Given the description of an element on the screen output the (x, y) to click on. 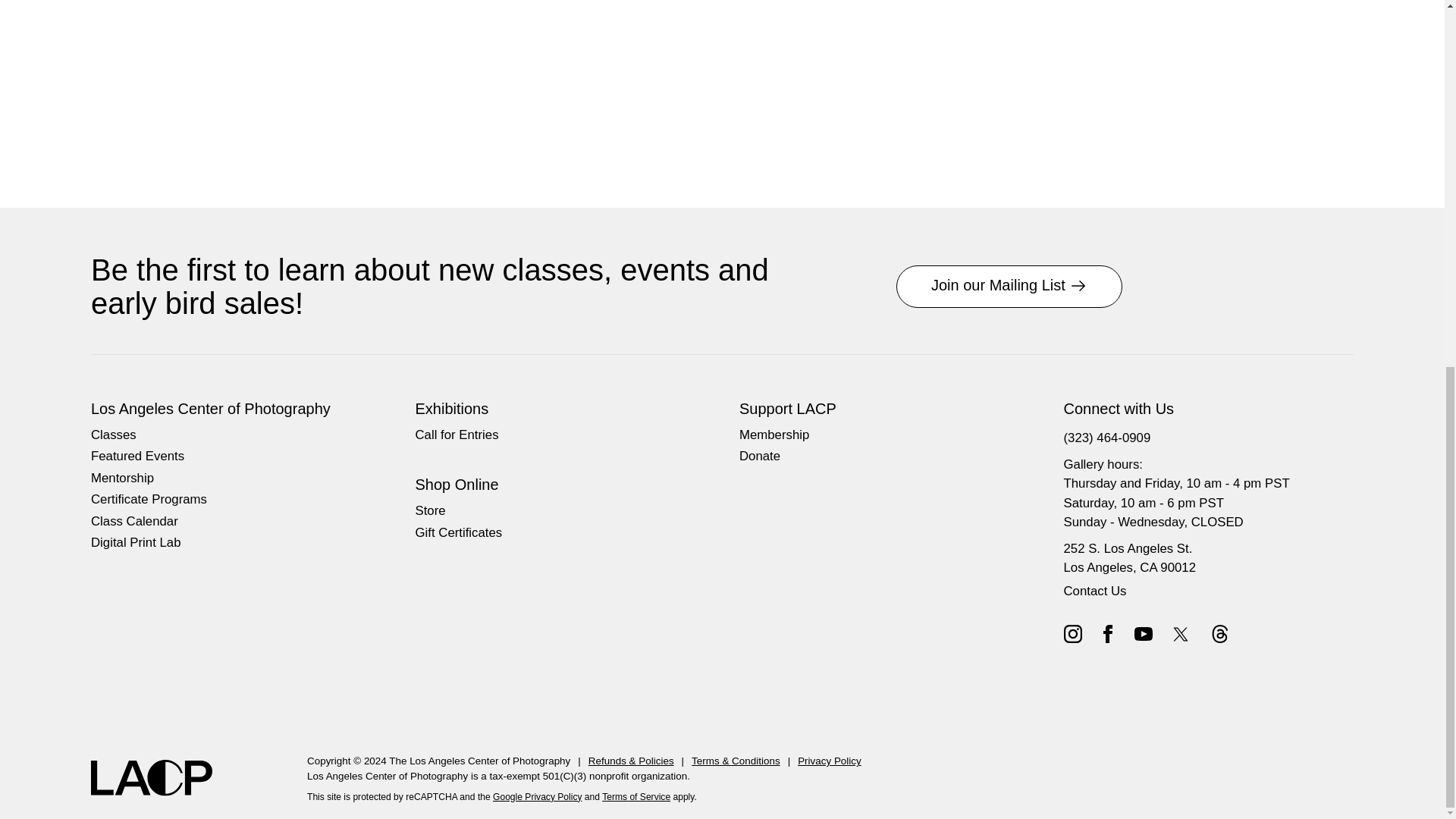
Join our Mailing List (1009, 286)
The Los Angeles Center of Photography Facebook (1107, 632)
The Los Angeles Center of Photography Threads (1218, 632)
The Los Angeles Center of Photography YouTube (1143, 632)
The Los Angeles Center of Photography Twitter (1181, 633)
Classes (113, 435)
Featured Events (137, 456)
YouTube video player (302, 81)
The Los Angeles Center of Photography Instagram (1071, 632)
